Given the description of an element on the screen output the (x, y) to click on. 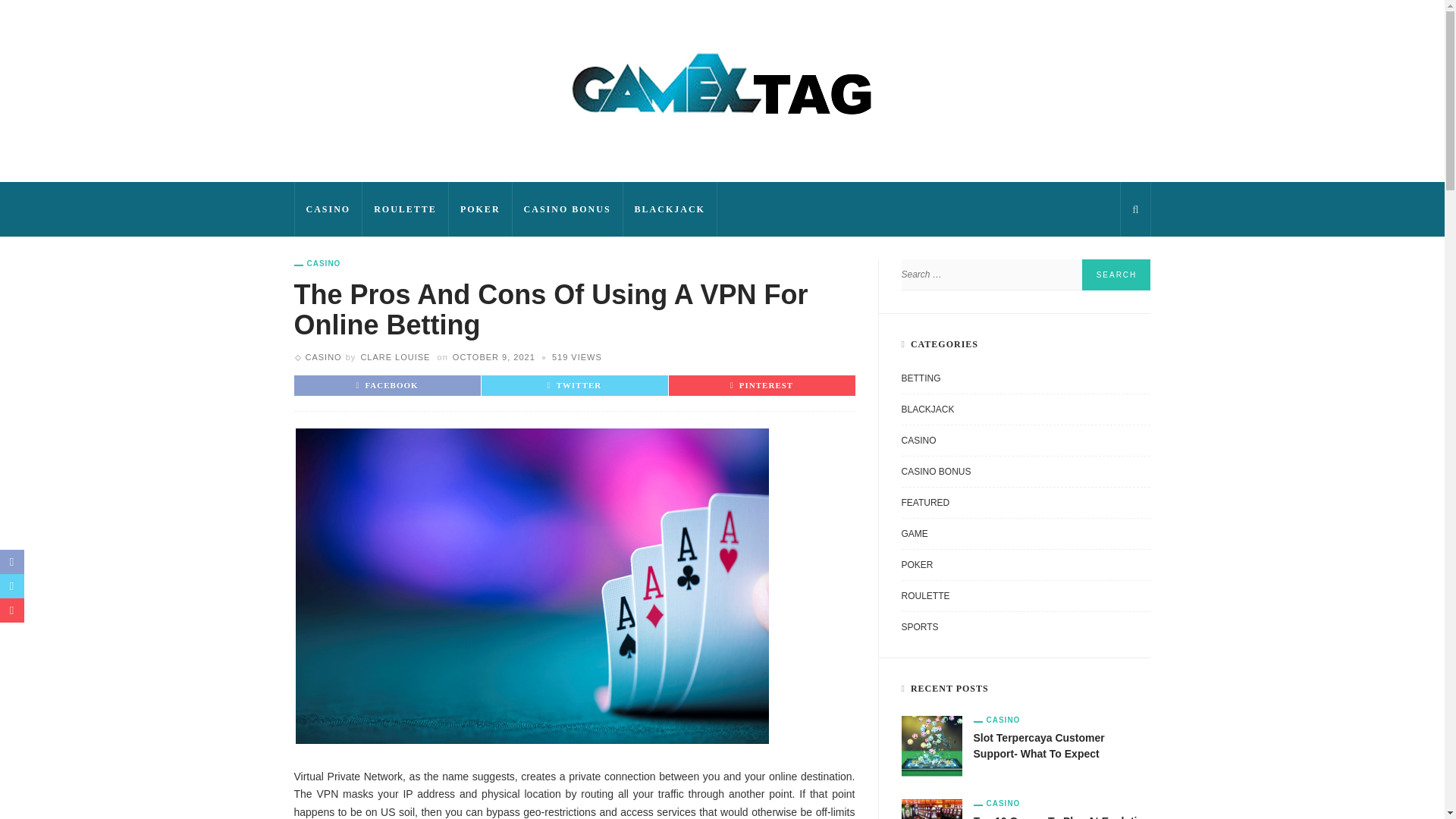
CLARE LOUISE (394, 356)
TWITTER (574, 384)
Search (1115, 274)
CASINO BONUS (567, 208)
CASINO (322, 356)
CASINO (317, 263)
Casino (317, 263)
Search (1115, 274)
BLACKJACK (670, 208)
ROULETTE (405, 208)
Gamex Tag (722, 90)
The Pros and Cons of Using a VPN for Online Betting (576, 356)
519 VIEWS (576, 356)
FACEBOOK (386, 384)
POKER (480, 208)
